Given the description of an element on the screen output the (x, y) to click on. 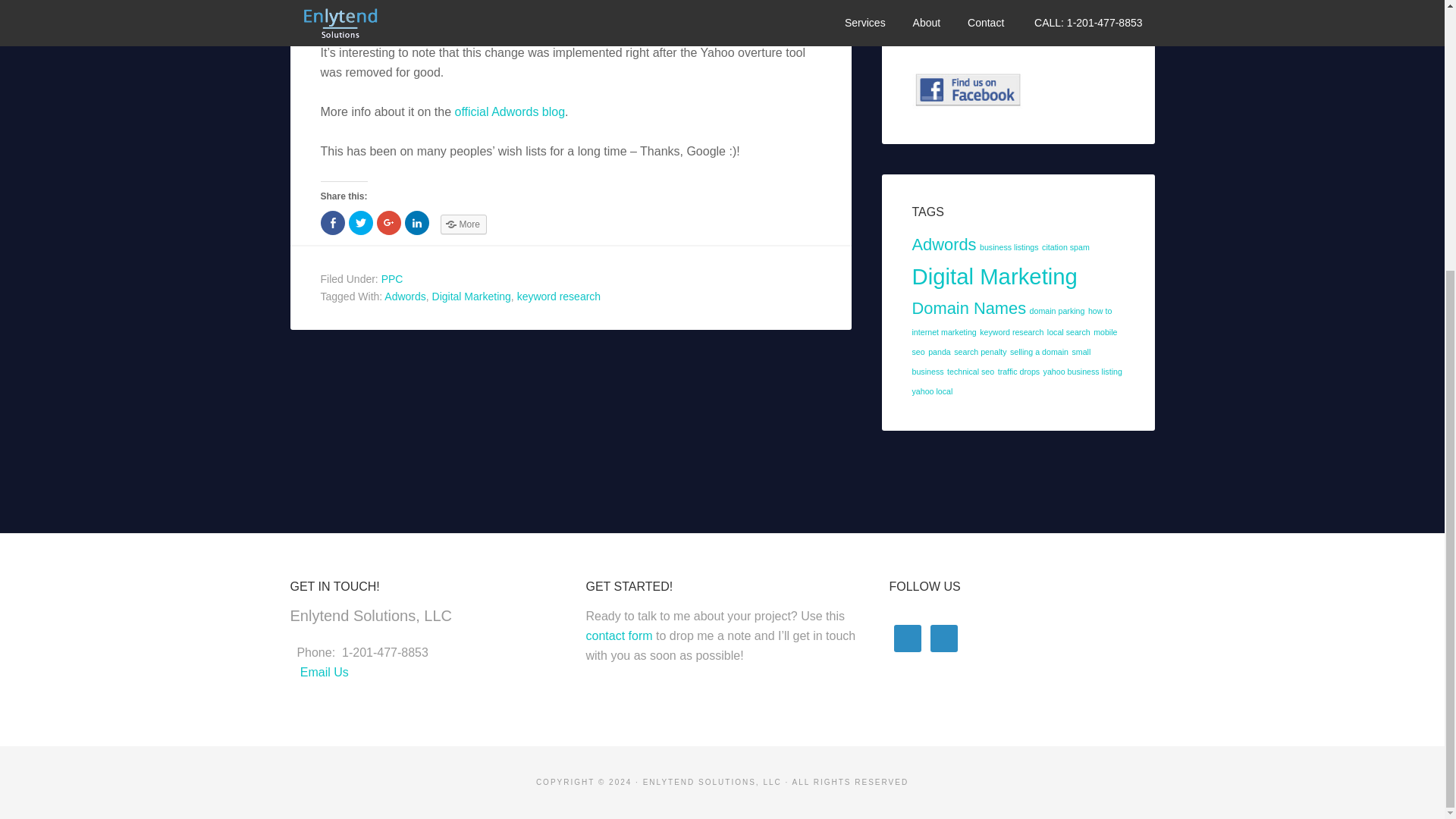
internet marketing (943, 331)
Follow Enlytend Solutions on FaceBook (968, 88)
keyword research (558, 296)
Adwords (943, 244)
keyword research (1011, 331)
business listings (1009, 246)
More (462, 224)
Click to share on Facebook (331, 222)
Adwords (404, 296)
Click to share on LinkedIn (416, 222)
